Given the description of an element on the screen output the (x, y) to click on. 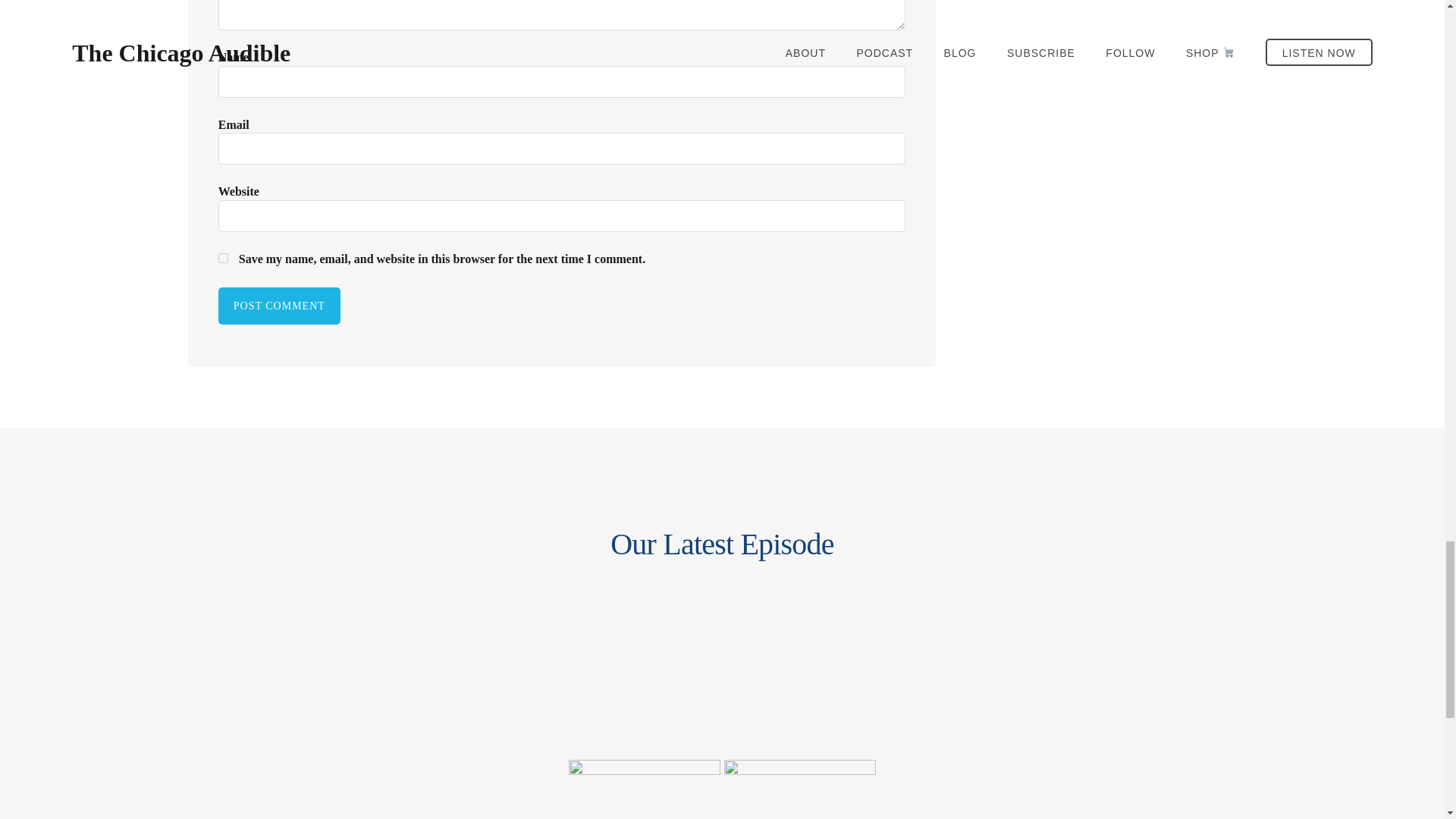
YouTube video player (1097, 657)
yes (223, 257)
Post Comment (279, 305)
